Given the description of an element on the screen output the (x, y) to click on. 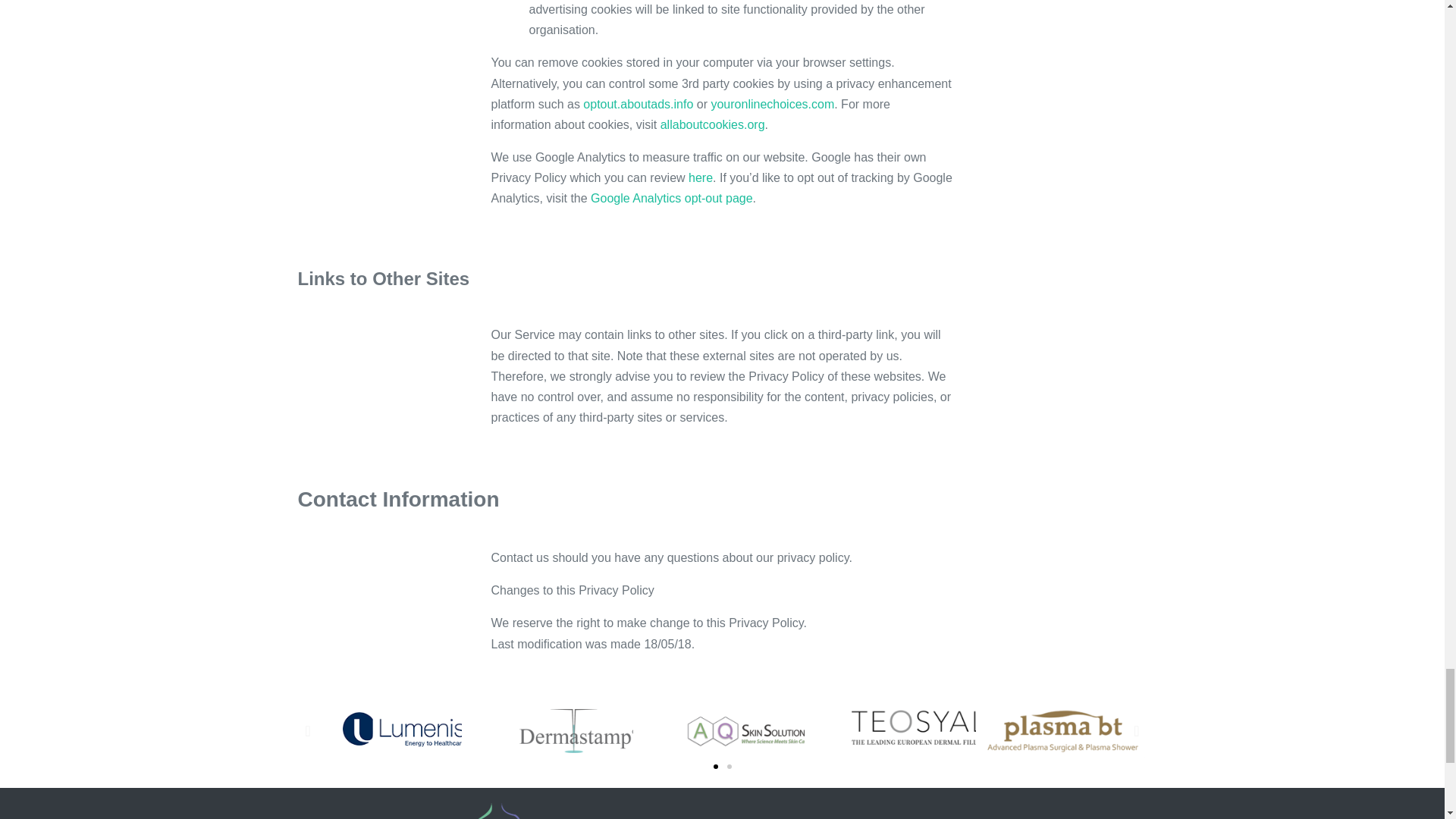
allaboutcookies.org (713, 124)
youronlinechoices.com (772, 103)
optout.aboutads.info (638, 103)
